Given the description of an element on the screen output the (x, y) to click on. 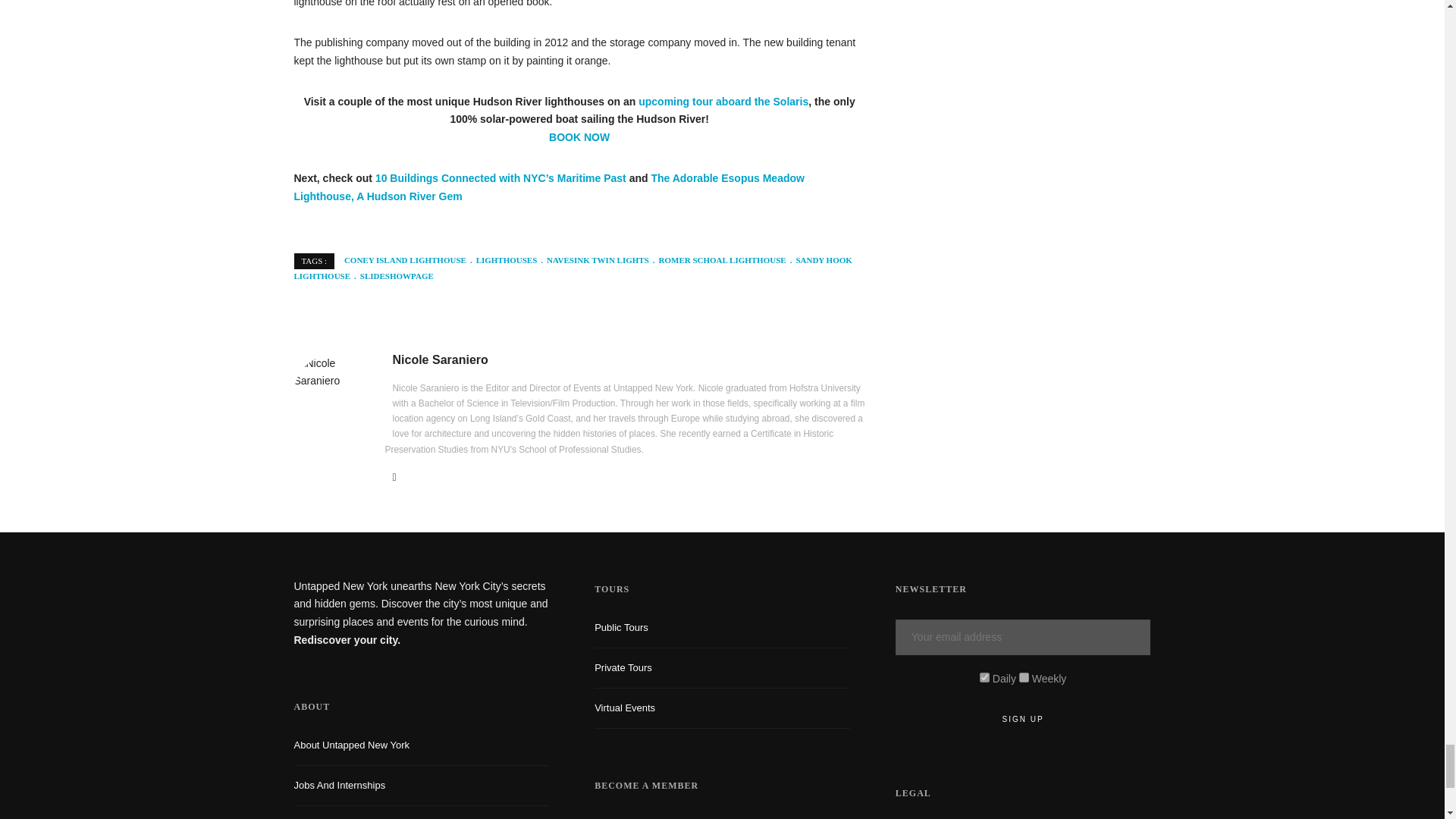
7cff6a70fd (1024, 677)
e99a09560c (984, 677)
Sign up (1023, 719)
